Given the description of an element on the screen output the (x, y) to click on. 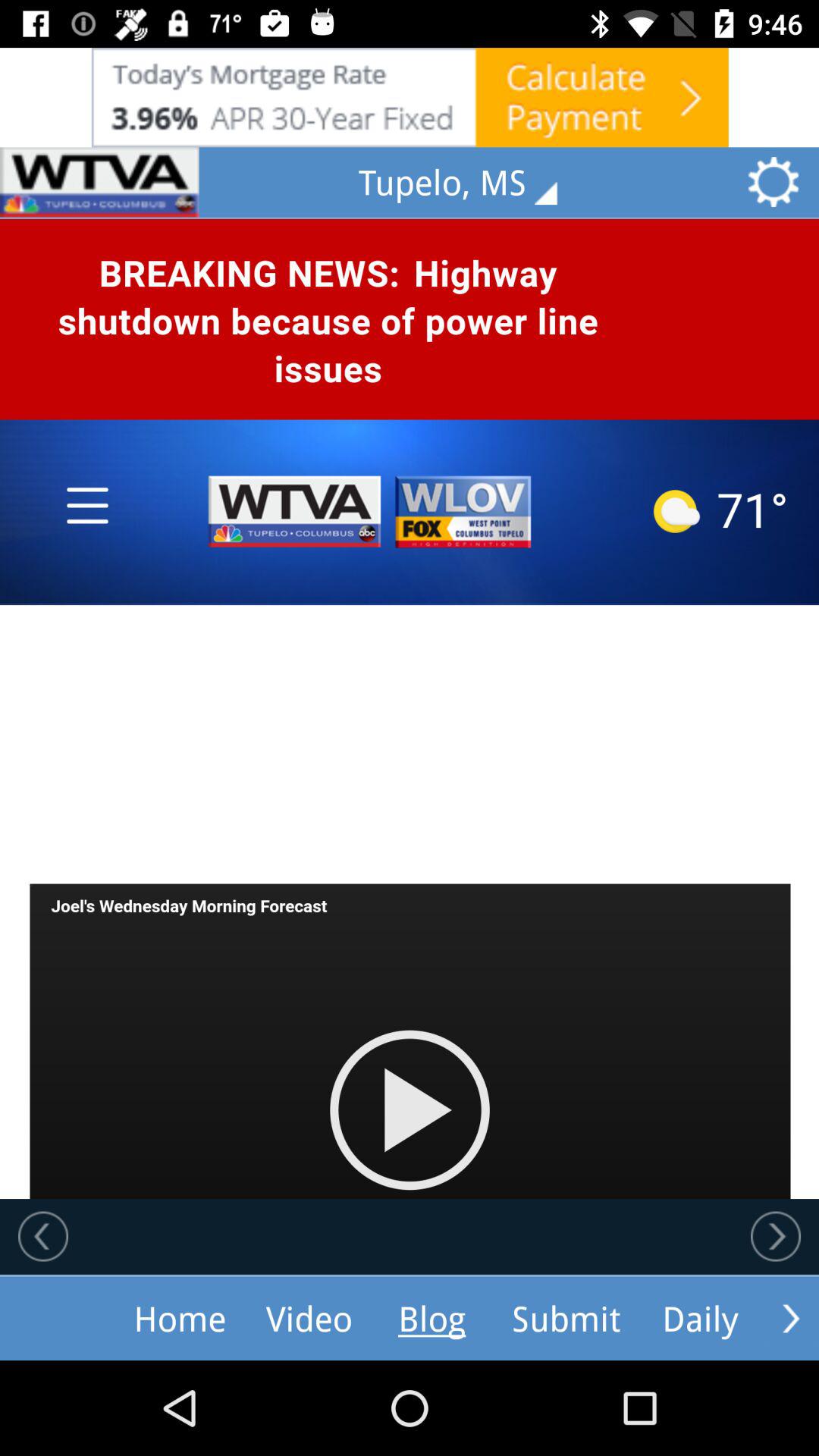
wtva icon (99, 182)
